Given the description of an element on the screen output the (x, y) to click on. 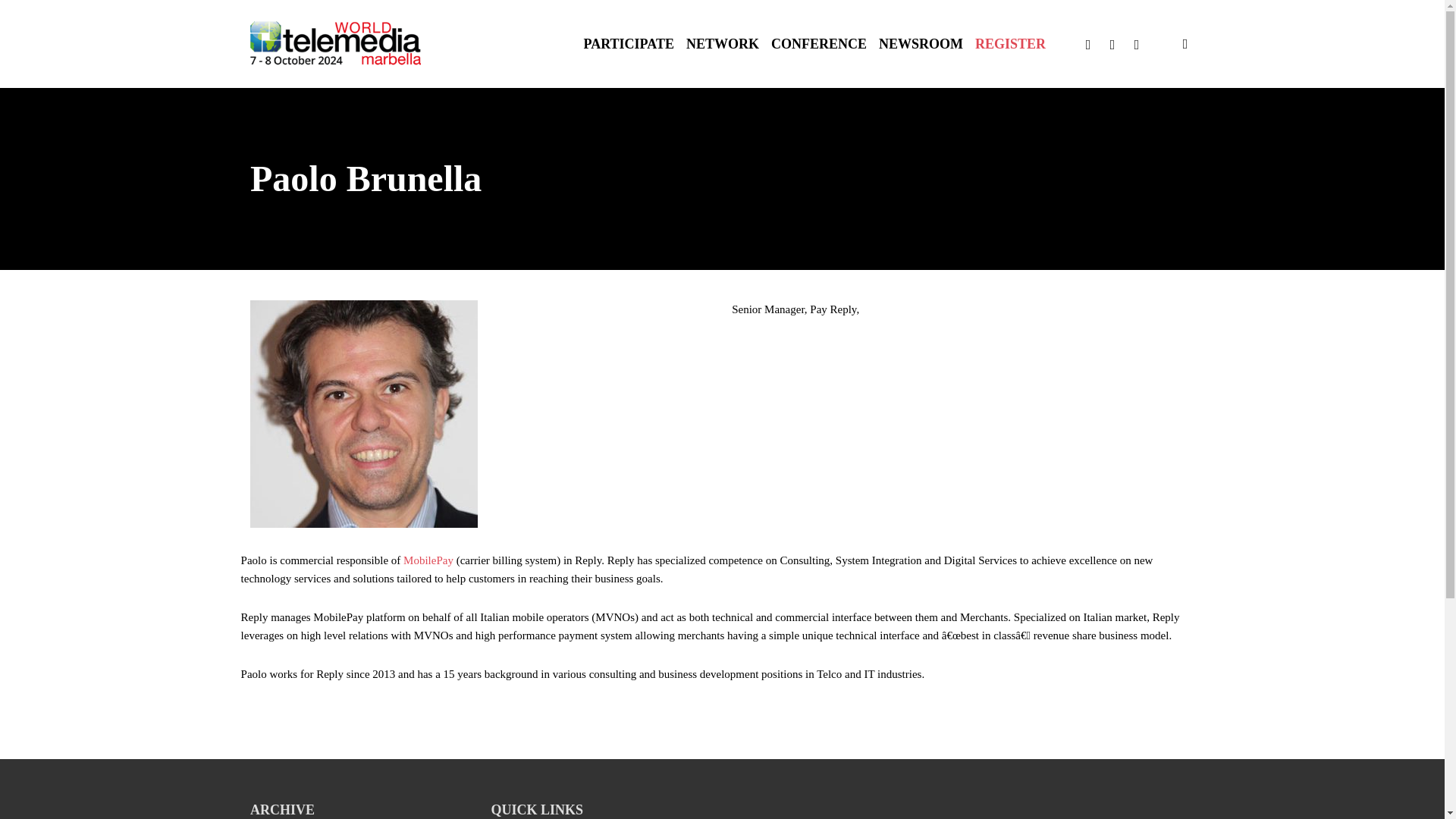
CONFERENCE (818, 43)
TWITTER (1088, 44)
REGISTER (1010, 43)
NETWORK (721, 43)
PARTICIPATE (628, 43)
FACEBOOK (1112, 44)
NEWSROOM (920, 43)
